Given the description of an element on the screen output the (x, y) to click on. 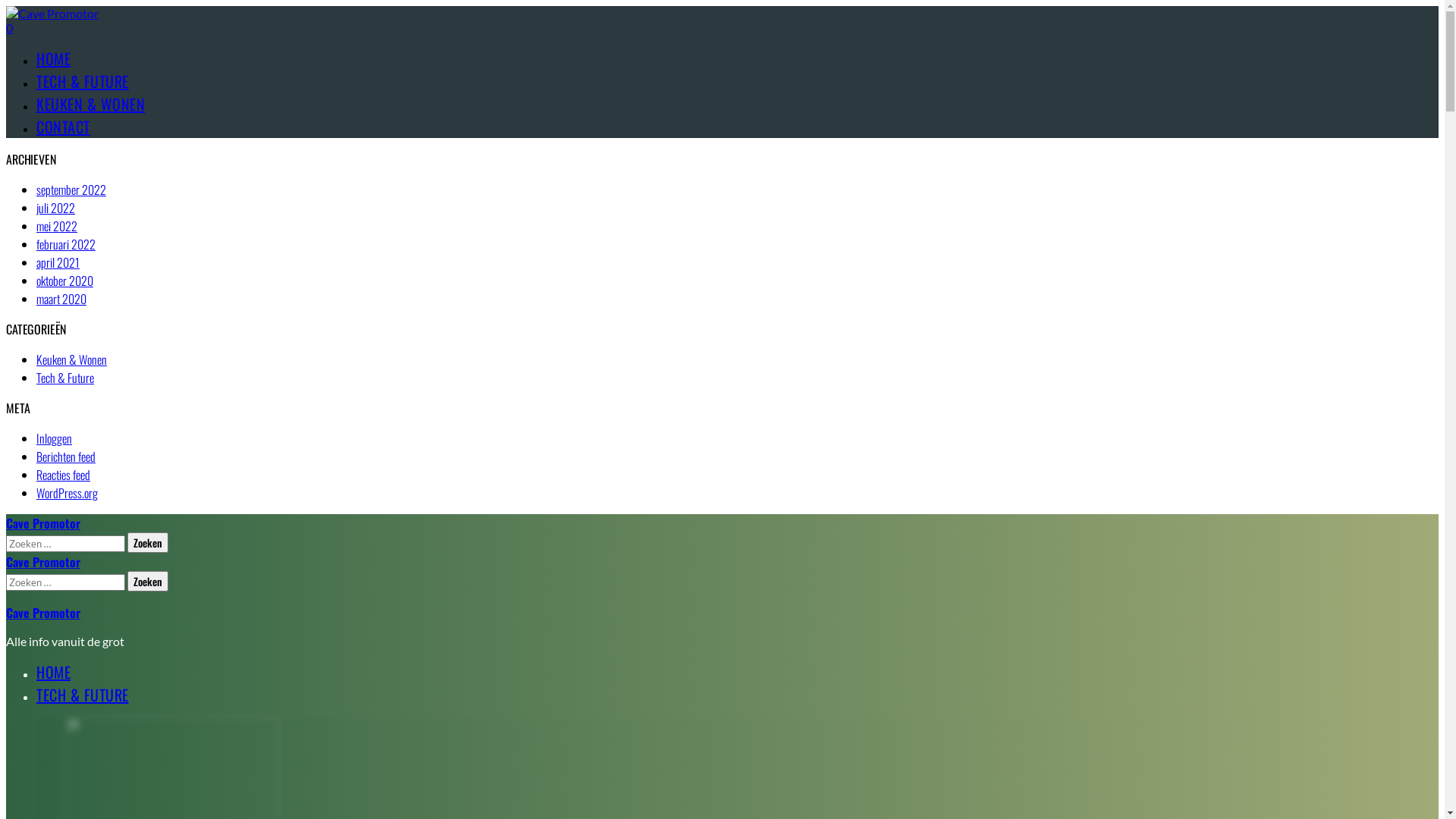
Zoeken Element type: text (147, 581)
Reacties feed Element type: text (63, 474)
september 2022 Element type: text (71, 189)
Tech & Future Element type: text (65, 377)
WordPress.org Element type: text (66, 492)
KEUKEN & WONEN Element type: text (90, 103)
HOME Element type: text (53, 671)
Cave Promotor Element type: text (43, 612)
maart 2020 Element type: text (61, 298)
oktober 2020 Element type: text (64, 280)
mei 2022 Element type: text (56, 225)
Inloggen Element type: text (54, 438)
Keuken & Wonen Element type: text (71, 359)
TECH & FUTURE Element type: text (82, 80)
Cave Promotor Element type: text (43, 561)
CONTACT Element type: text (63, 126)
februari 2022 Element type: text (65, 244)
TECH & FUTURE Element type: text (82, 694)
april 2021 Element type: text (57, 262)
Berichten feed Element type: text (65, 456)
Cave Promotor Element type: text (43, 523)
Zoeken Element type: text (147, 542)
HOME Element type: text (53, 58)
juli 2022 Element type: text (55, 207)
0 Element type: text (9, 27)
